Given the description of an element on the screen output the (x, y) to click on. 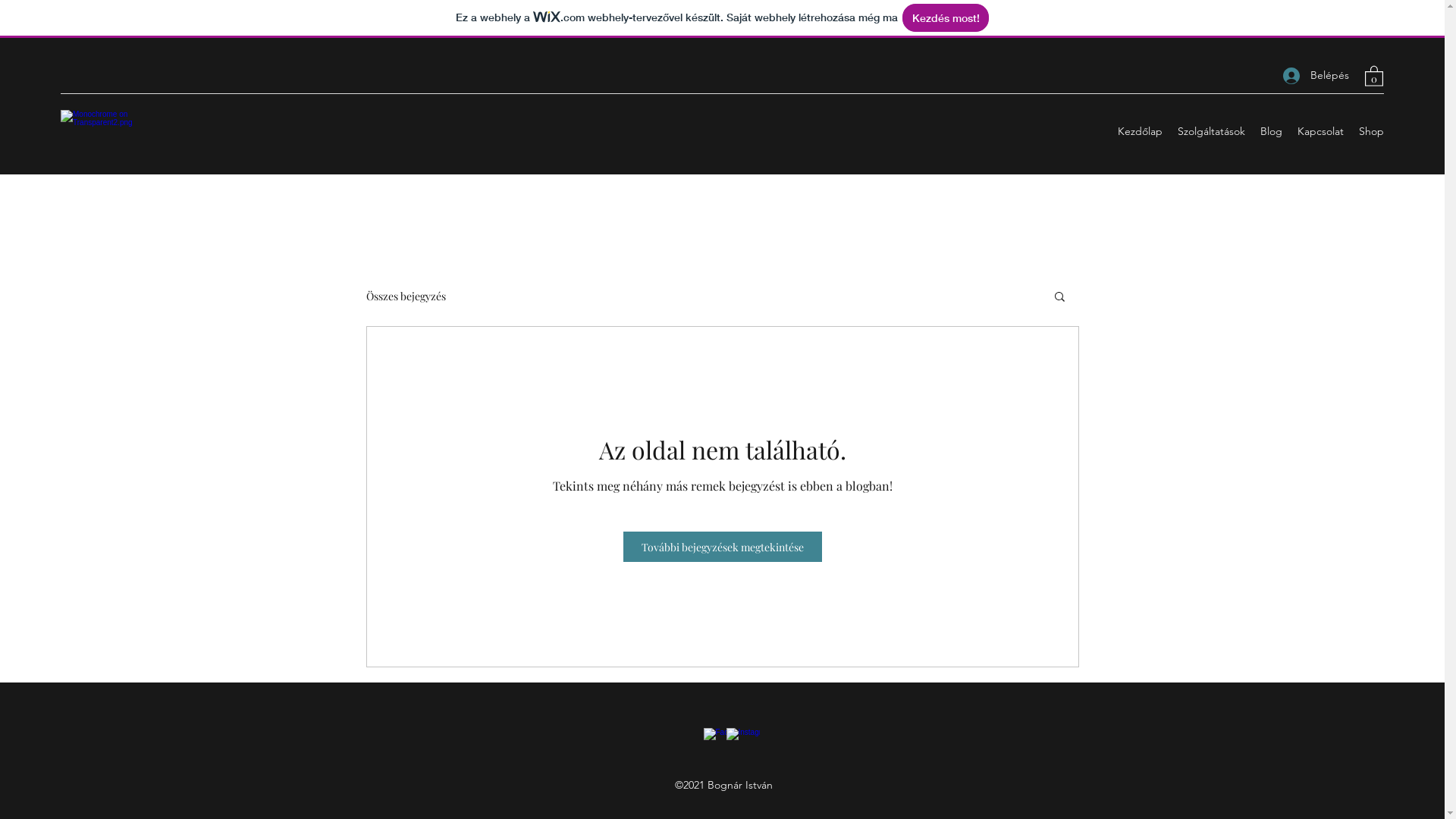
Kapcsolat Element type: text (1320, 130)
0 Element type: text (1374, 75)
Shop Element type: text (1371, 130)
Blog Element type: text (1270, 130)
